Given the description of an element on the screen output the (x, y) to click on. 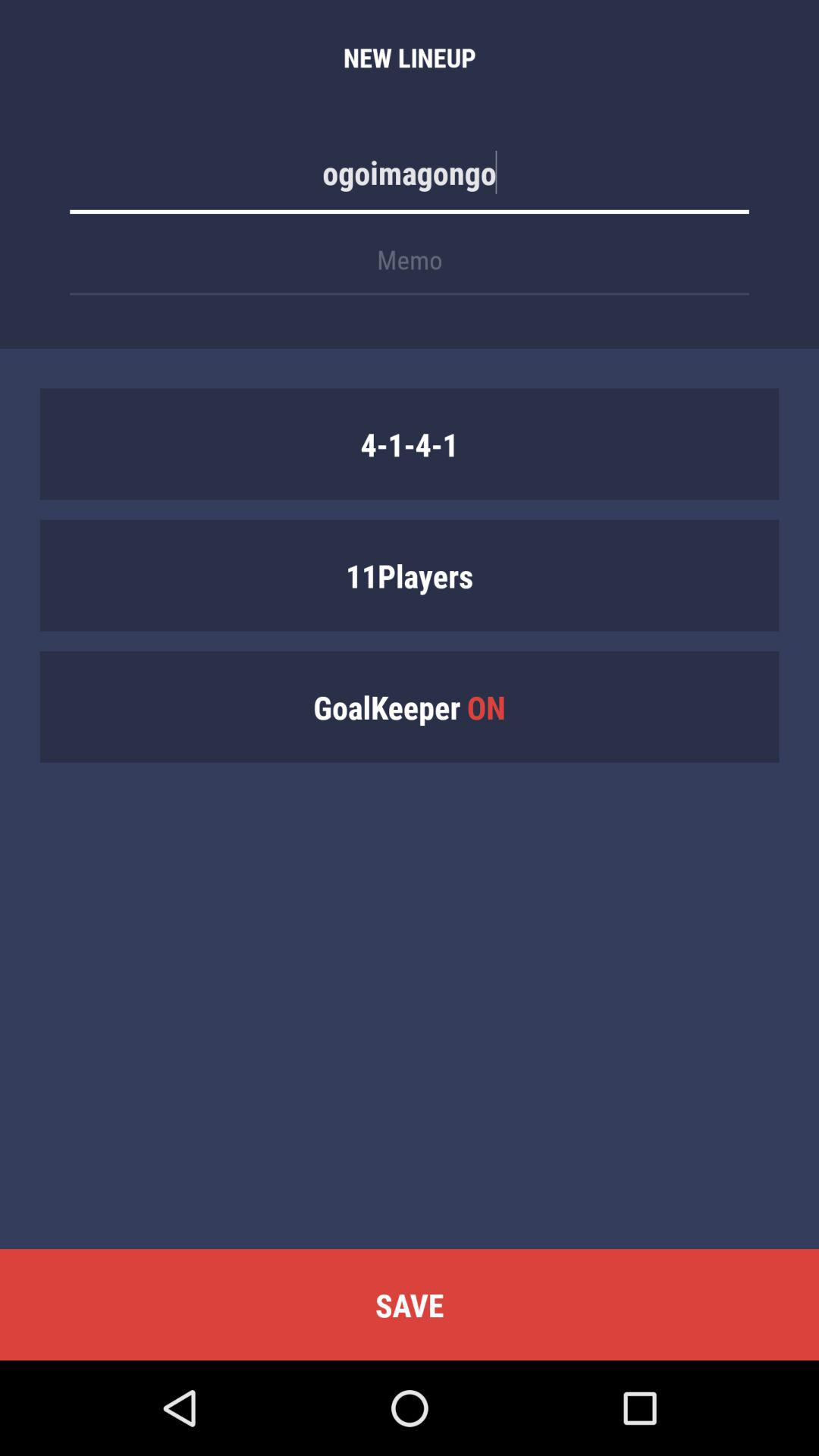
jump to ogoimagongo icon (409, 179)
